Given the description of an element on the screen output the (x, y) to click on. 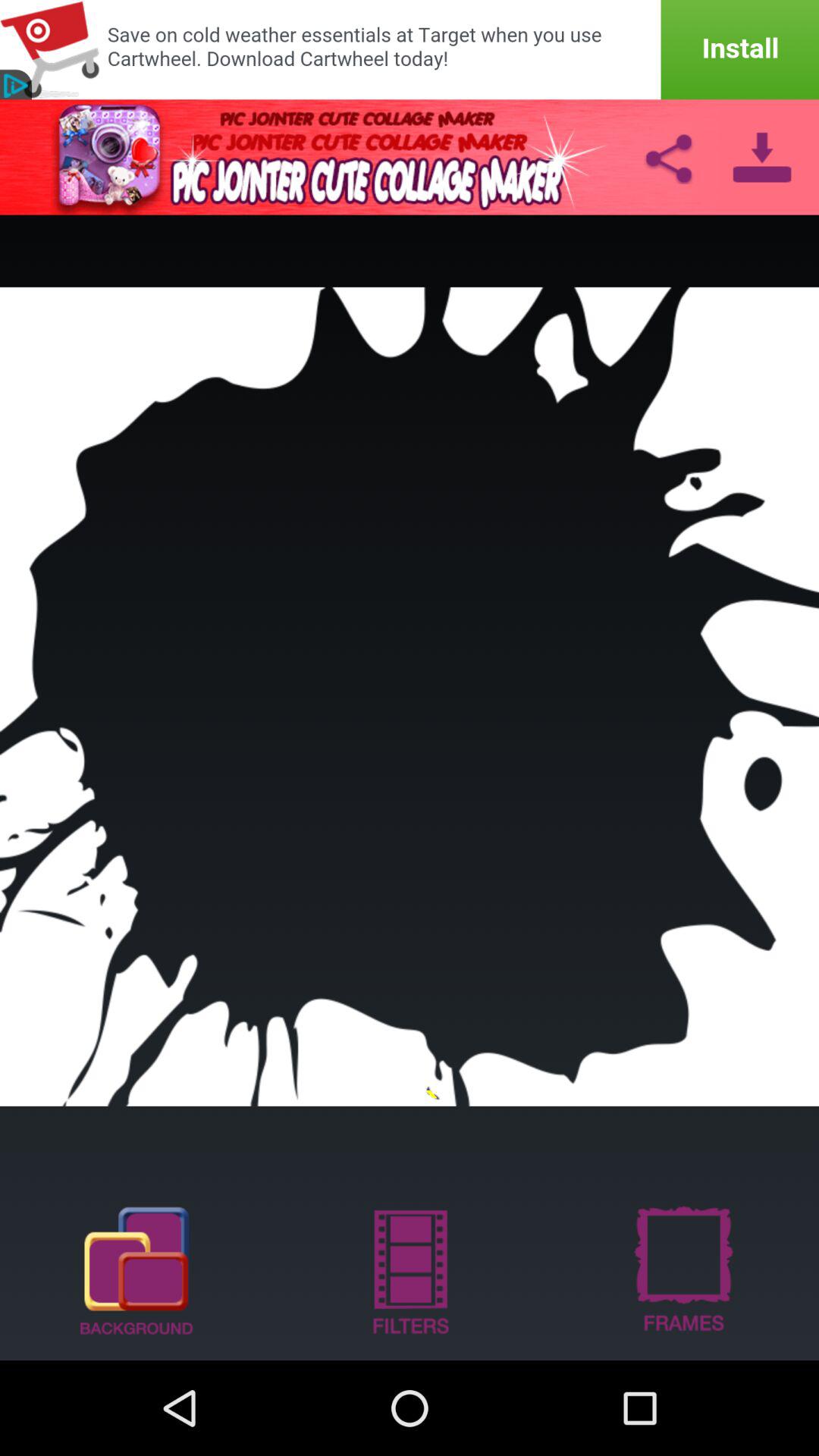
advertisement (409, 49)
